Given the description of an element on the screen output the (x, y) to click on. 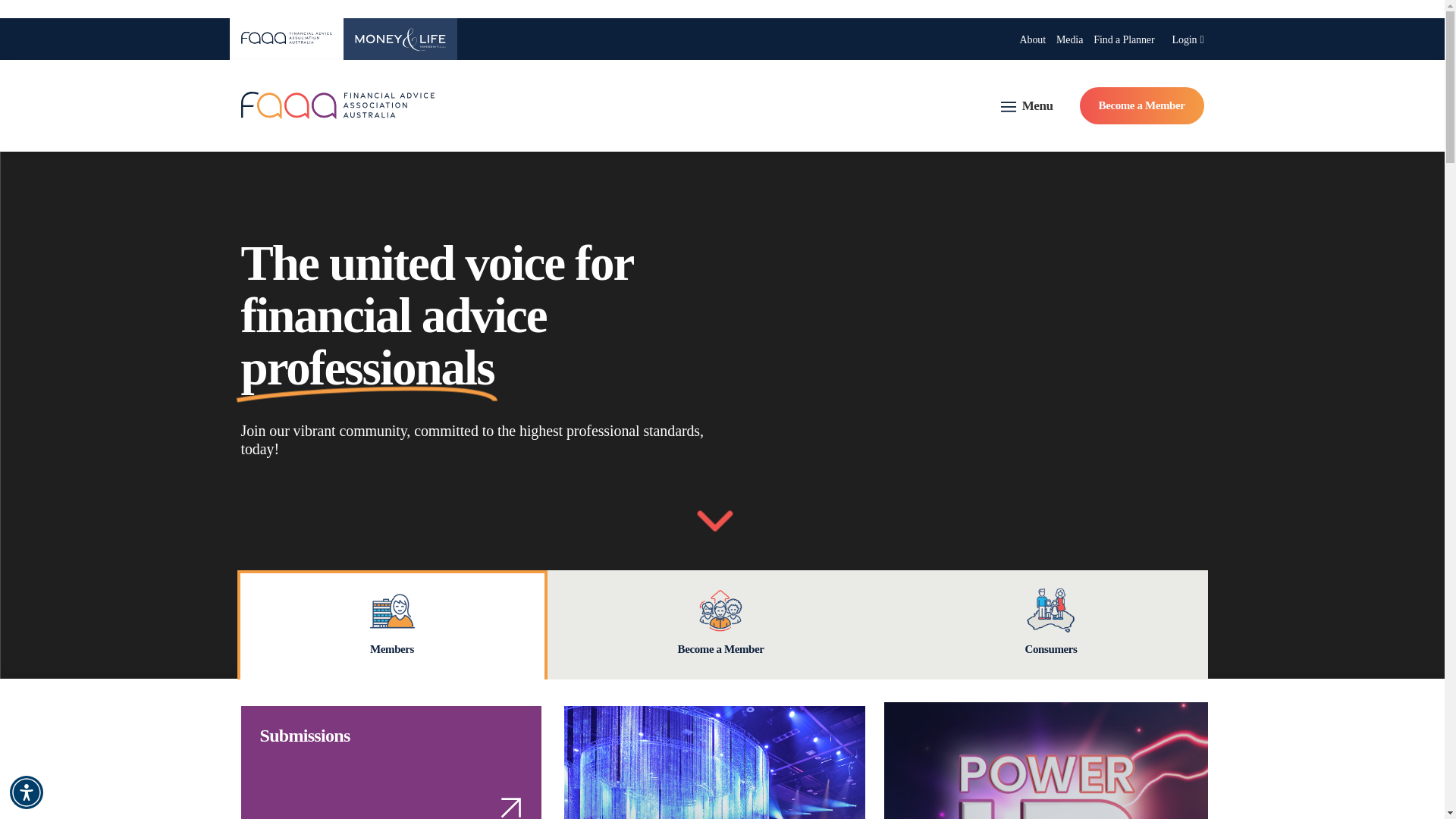
Become a Member (1142, 105)
Media (1070, 39)
Find a Planner (1123, 39)
Accessibility Menu (26, 792)
Login (1188, 39)
About (1032, 39)
Menu (1026, 105)
